Given the description of an element on the screen output the (x, y) to click on. 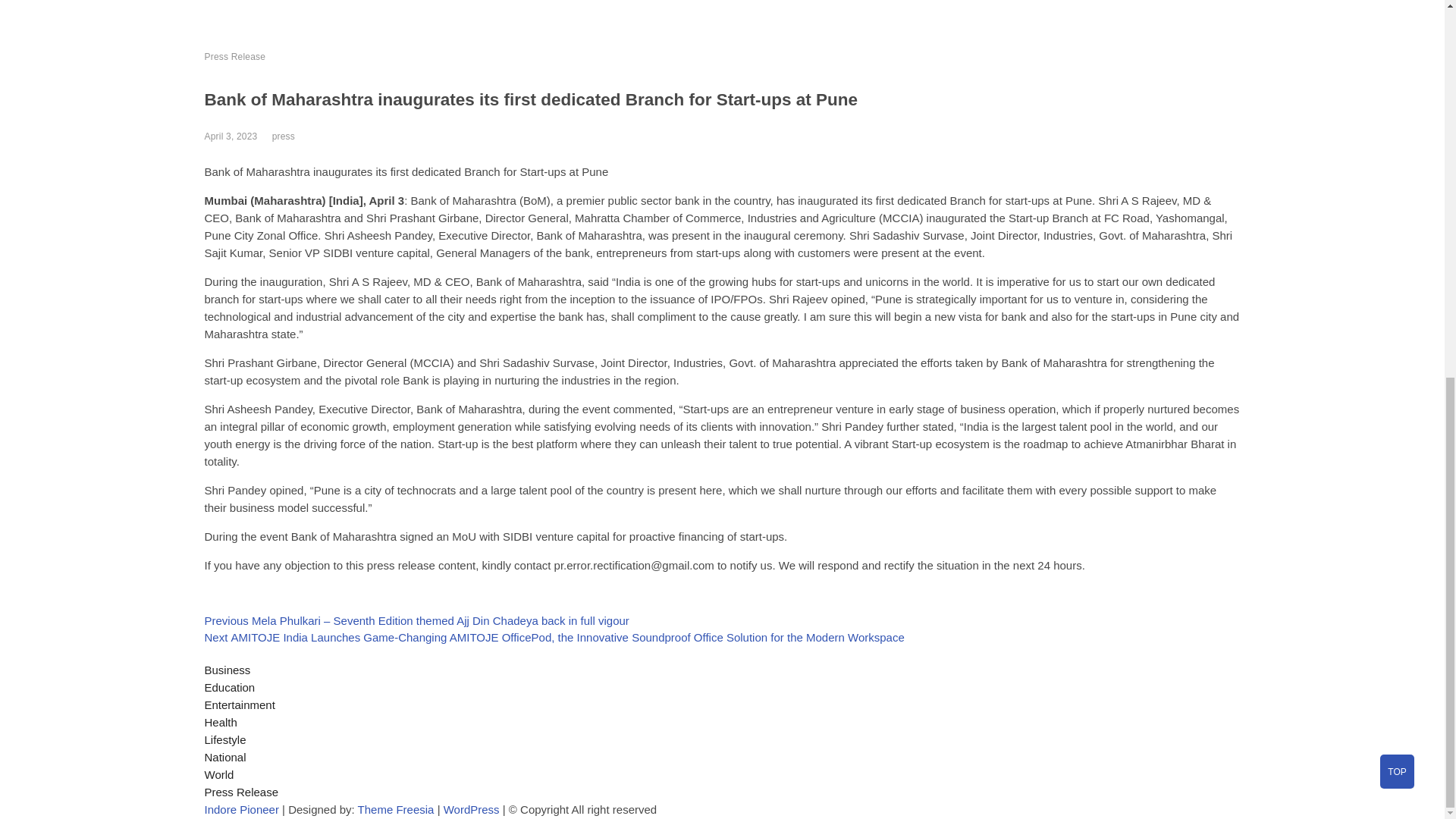
April 3, 2023 (231, 136)
WordPress (471, 809)
World (219, 774)
Theme Freesia (395, 809)
Business (227, 669)
Lifestyle (225, 739)
Entertainment (240, 704)
press (283, 136)
April 3, 2023 (231, 136)
Press Release (235, 56)
Health (221, 721)
National (225, 757)
Education (230, 686)
Indore Pioneer (242, 809)
